Given the description of an element on the screen output the (x, y) to click on. 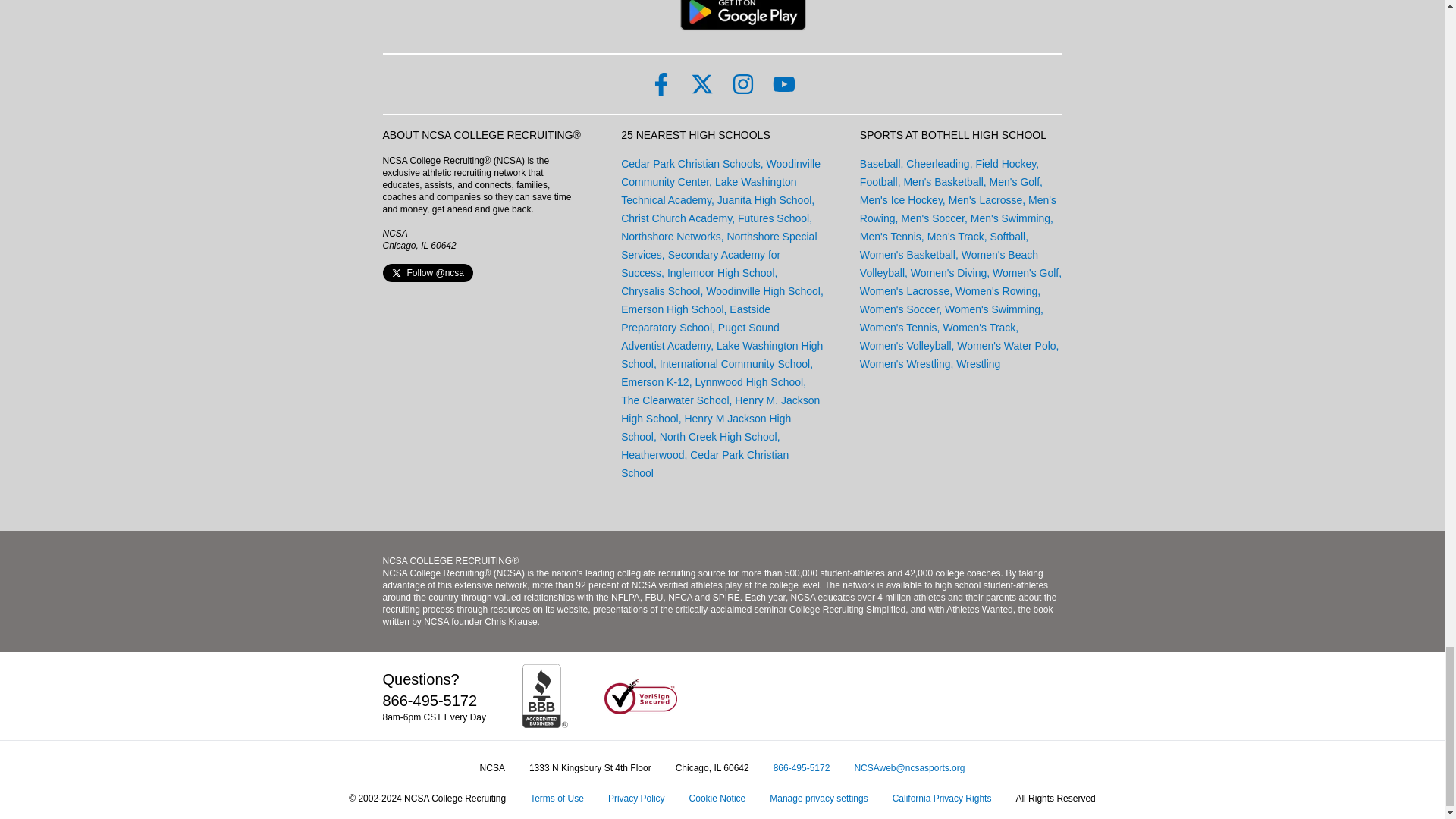
Follow us on Facebook. (660, 83)
Juanita High School (764, 200)
Follow us on YouTube. (782, 83)
Cedar Park Christian Schools (690, 163)
Follow us on Instagram. (742, 83)
Lake Washington Technical Academy (708, 191)
Follow us on X. (701, 83)
Woodinville Community Center (721, 173)
